Given the description of an element on the screen output the (x, y) to click on. 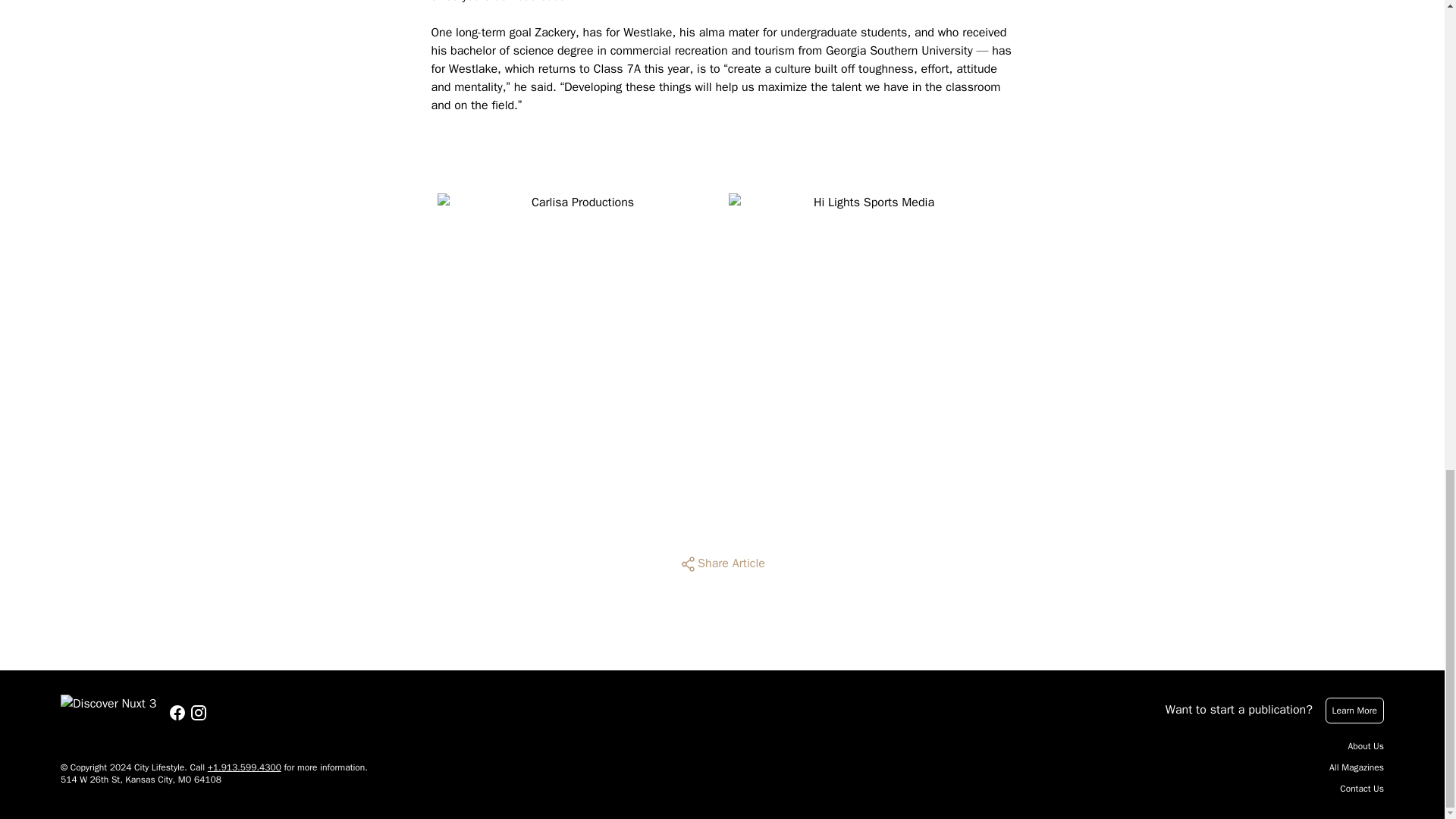
Learn More (1354, 710)
All Magazines (1356, 767)
Share Article (722, 563)
About Us (1366, 746)
Contact Us (1361, 788)
